Given the description of an element on the screen output the (x, y) to click on. 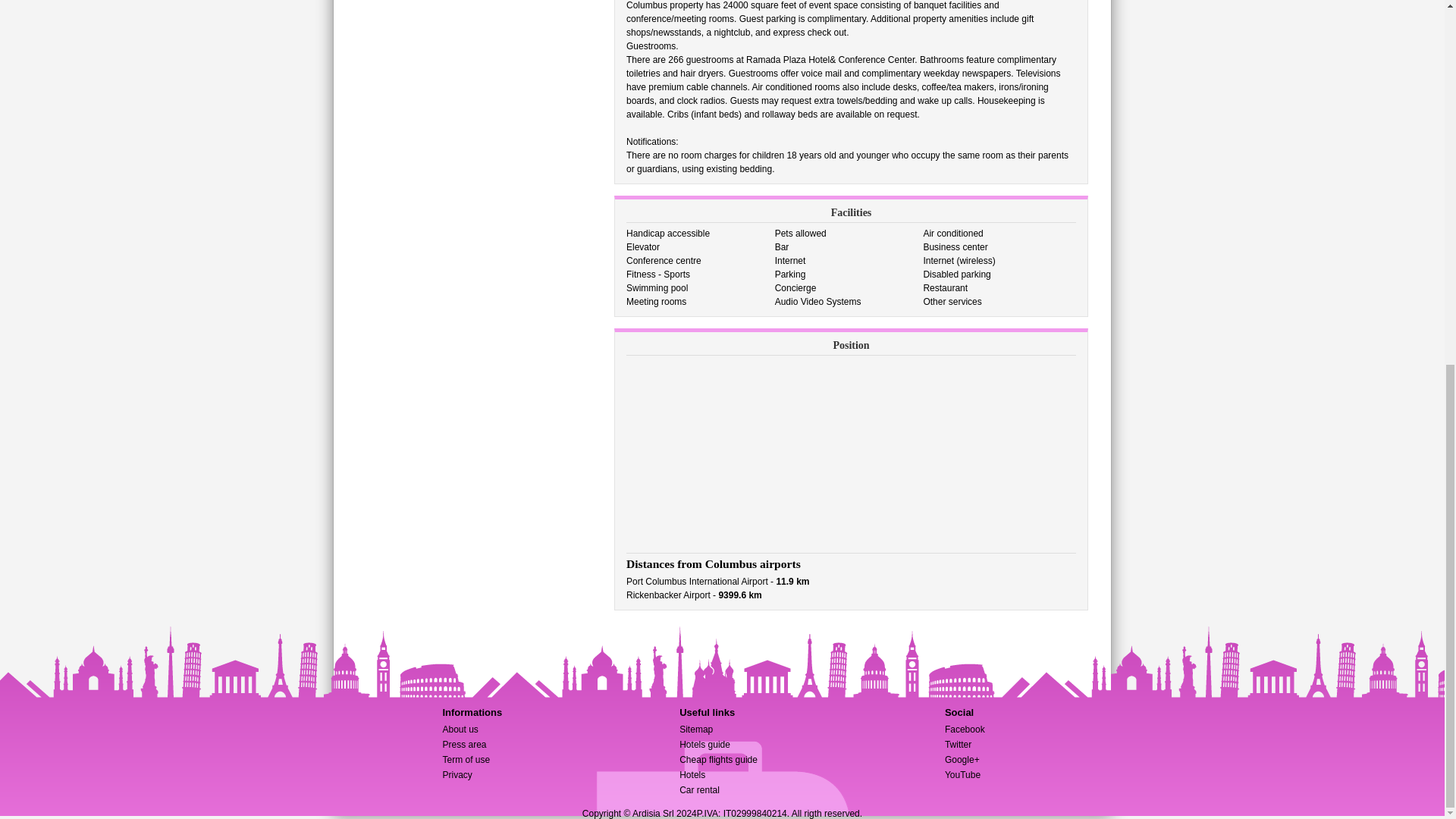
Press area (464, 744)
Privacy (456, 774)
Twitter (957, 744)
Term of use (465, 759)
Sitemap (696, 728)
Cheap flights guide (718, 759)
Car rental (699, 789)
Privacy (456, 774)
About us (459, 728)
Hotels guide (704, 744)
Term of use (465, 759)
Press area (464, 744)
YouTube (961, 774)
Hotels (691, 774)
About us (459, 728)
